Given the description of an element on the screen output the (x, y) to click on. 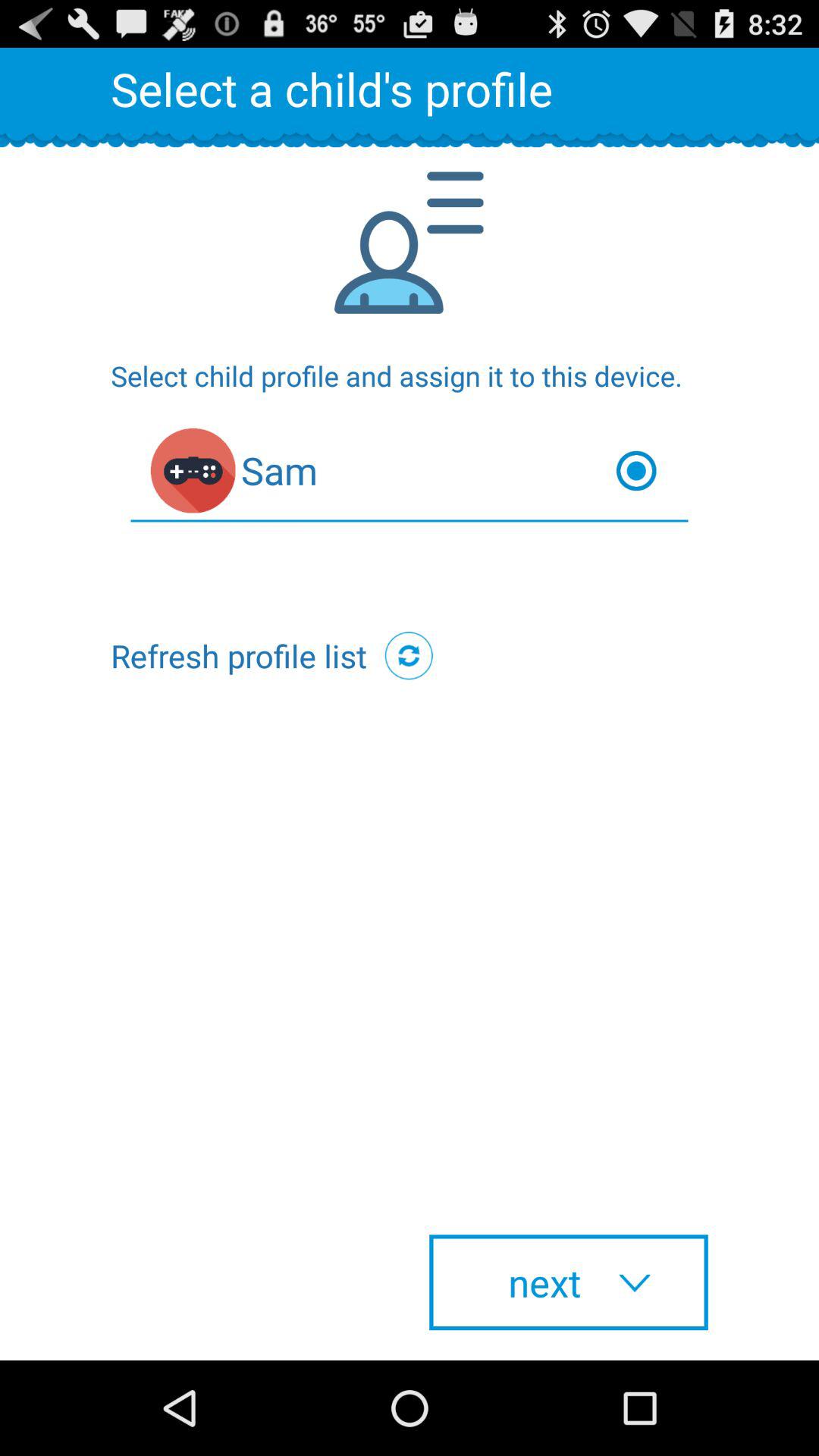
scroll to sam item (409, 474)
